Given the description of an element on the screen output the (x, y) to click on. 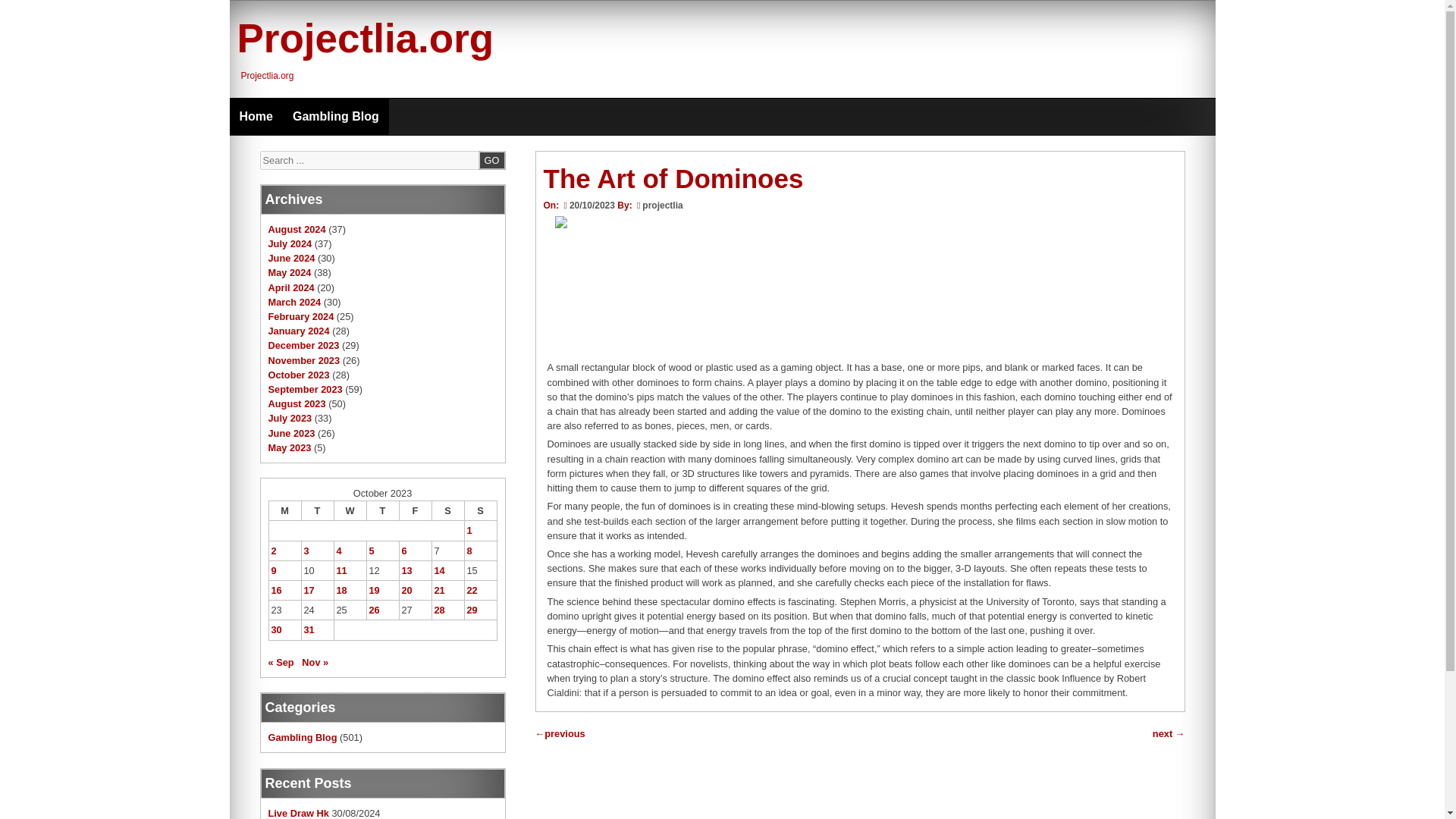
February 2024 (300, 316)
Wednesday (349, 510)
May 2024 (289, 272)
June 2023 (291, 432)
GO (492, 158)
11 (341, 570)
GO (492, 158)
17 (308, 590)
GO (492, 158)
Saturday (447, 510)
